Given the description of an element on the screen output the (x, y) to click on. 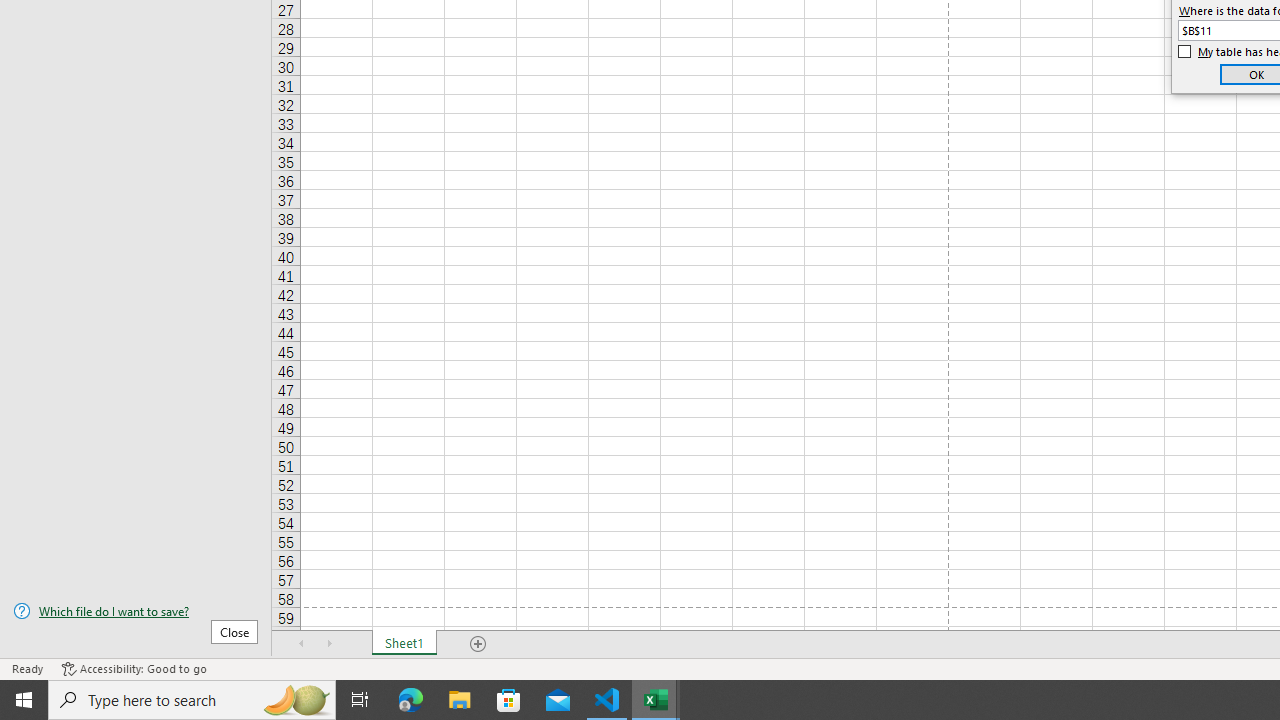
Which file do I want to save? (136, 611)
